Given the description of an element on the screen output the (x, y) to click on. 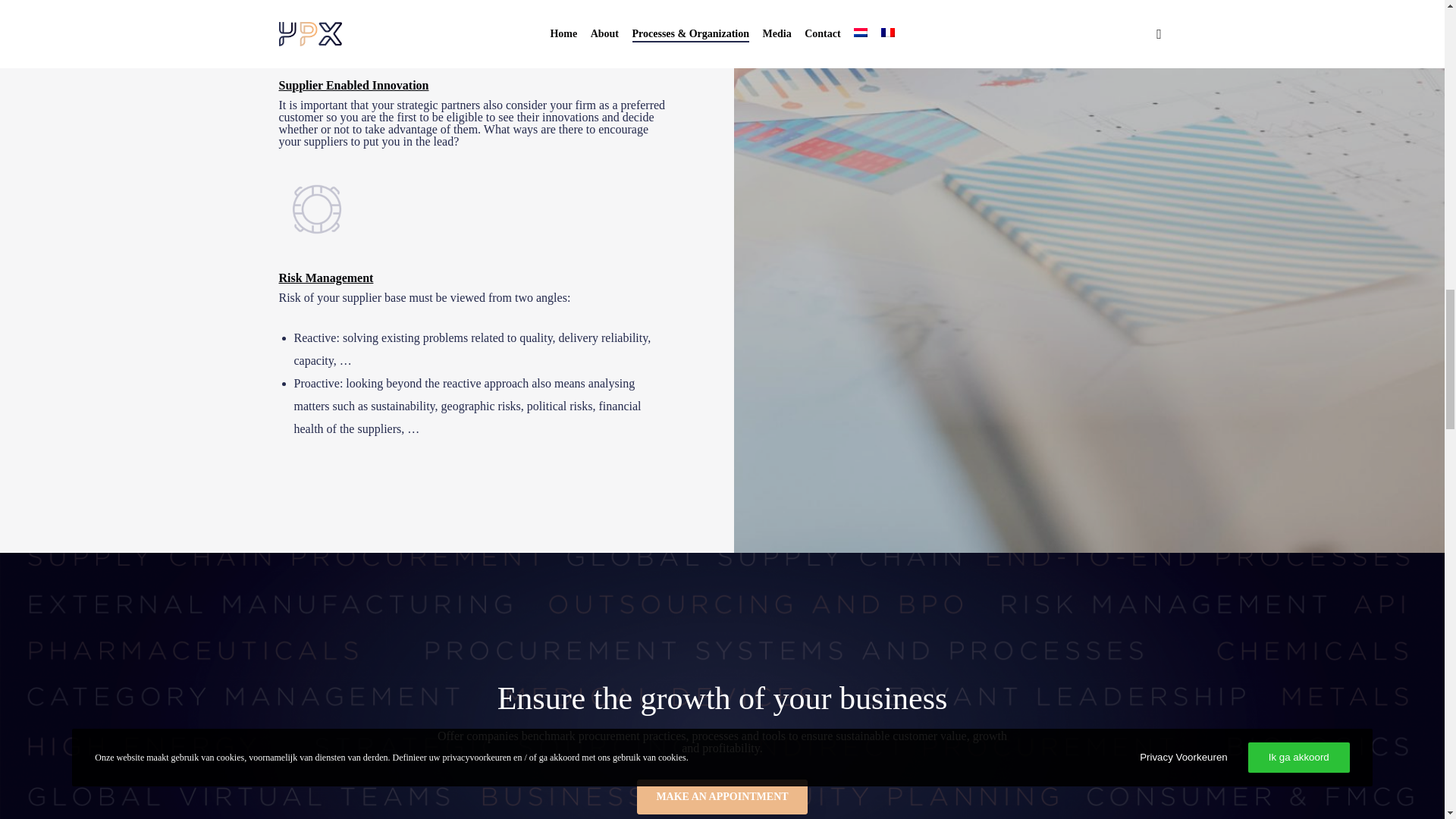
MAKE AN APPOINTMENT (721, 796)
Contact (721, 796)
